Given the description of an element on the screen output the (x, y) to click on. 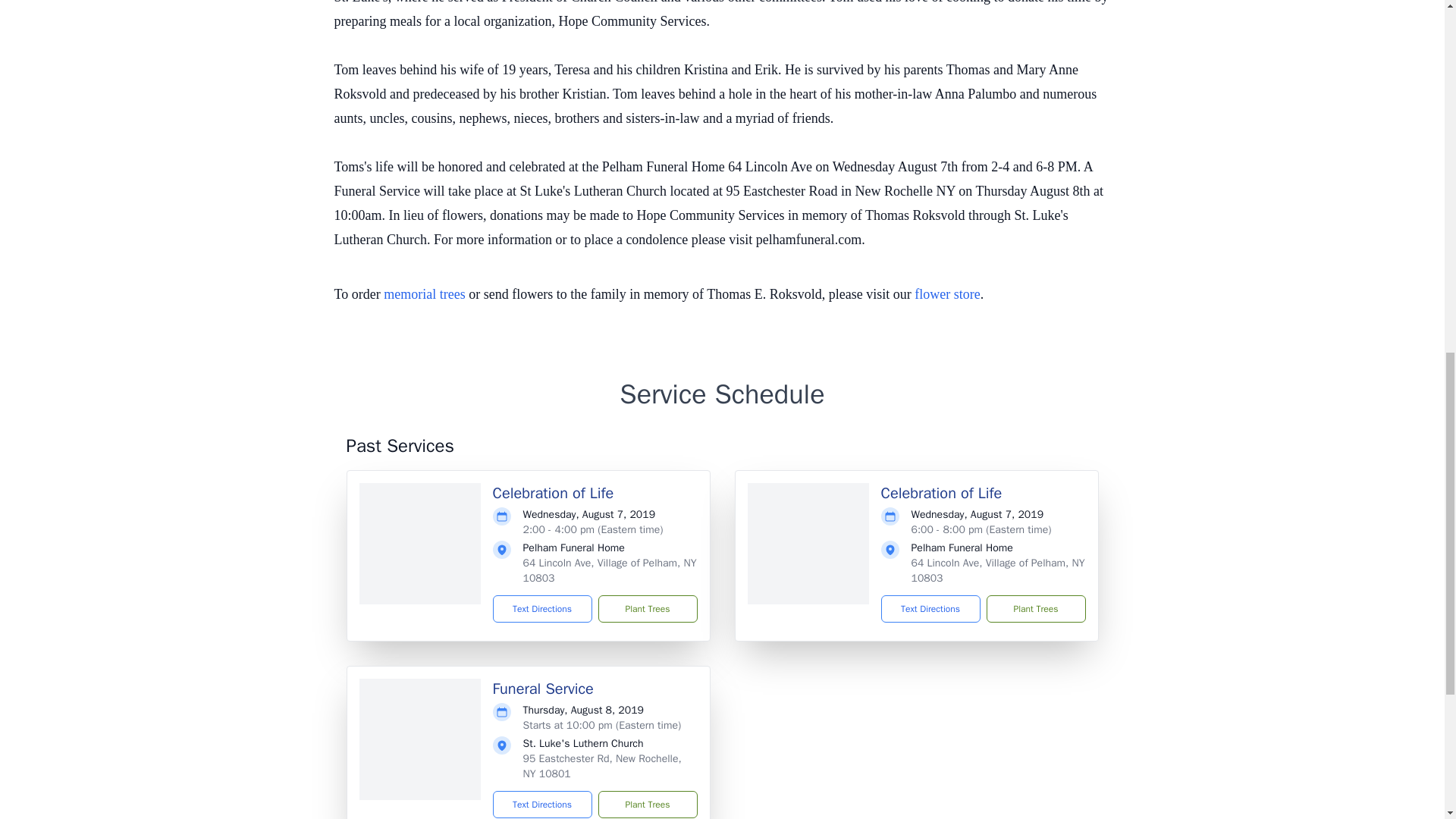
flower store (946, 294)
Plant Trees (1034, 608)
64 Lincoln Ave, Village of Pelham, NY 10803 (609, 570)
Plant Trees (646, 608)
Plant Trees (646, 804)
Text Directions (929, 608)
memorial trees (424, 294)
Text Directions (542, 804)
Text Directions (542, 608)
64 Lincoln Ave, Village of Pelham, NY 10803 (997, 570)
